Given the description of an element on the screen output the (x, y) to click on. 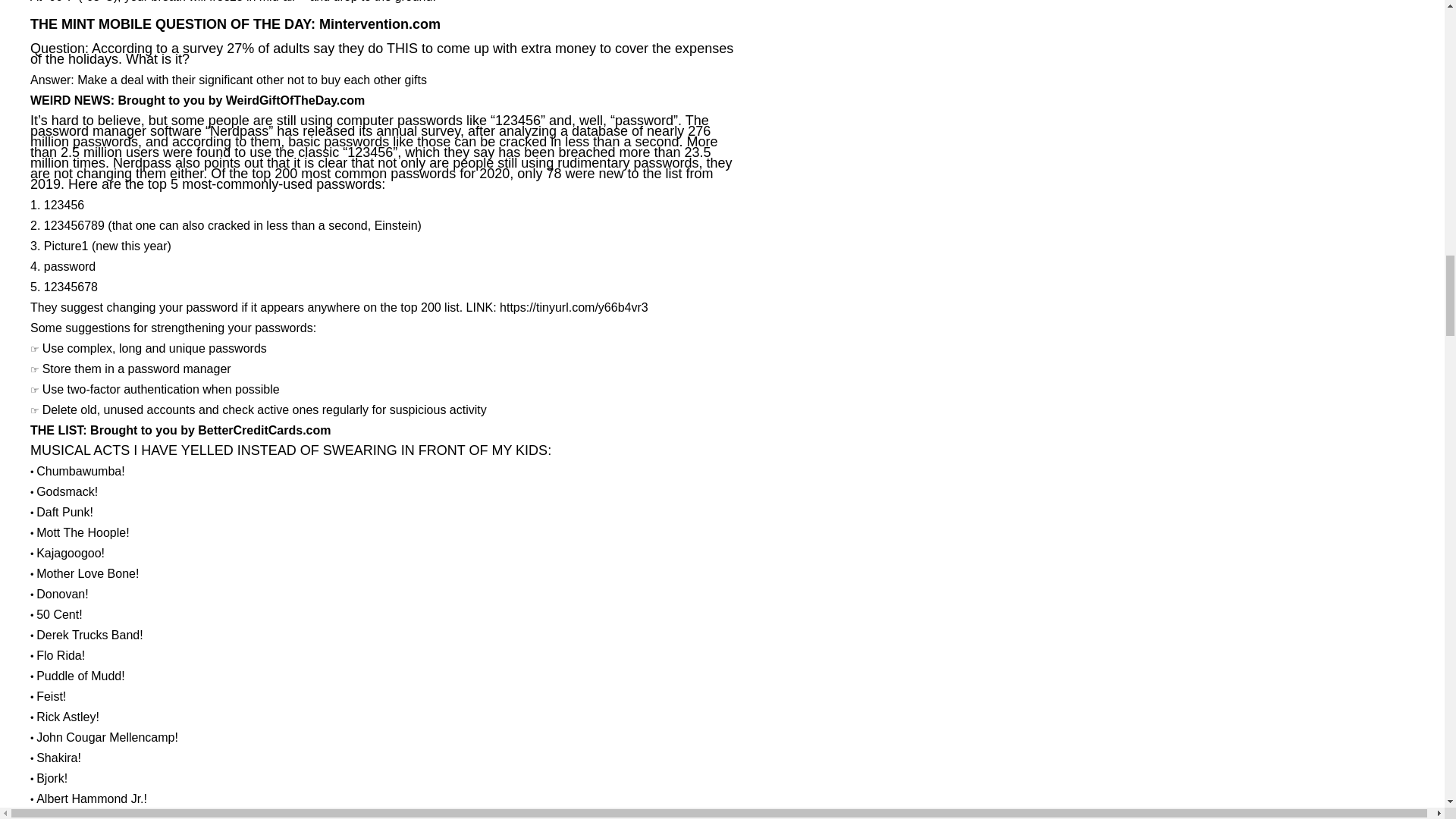
BetterCreditCards.com (264, 430)
Mintervention.com (379, 23)
WeirdGiftOfTheDay.com (295, 101)
